Given the description of an element on the screen output the (x, y) to click on. 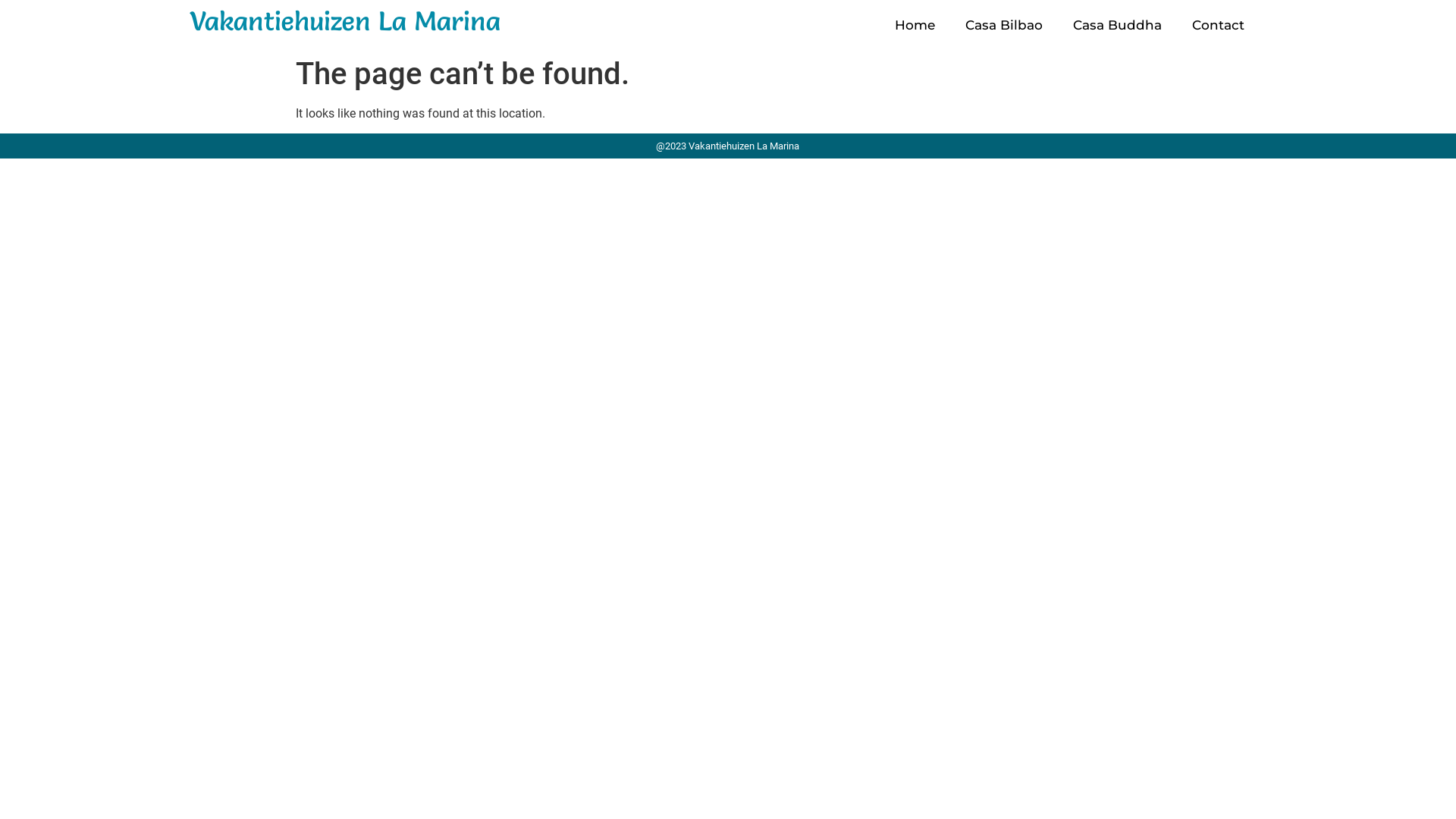
Home Element type: text (914, 24)
Vakantiehuizen La Marina Element type: text (344, 20)
Contact Element type: text (1217, 24)
Casa Buddha Element type: text (1116, 24)
Casa Bilbao Element type: text (1003, 24)
